Given the description of an element on the screen output the (x, y) to click on. 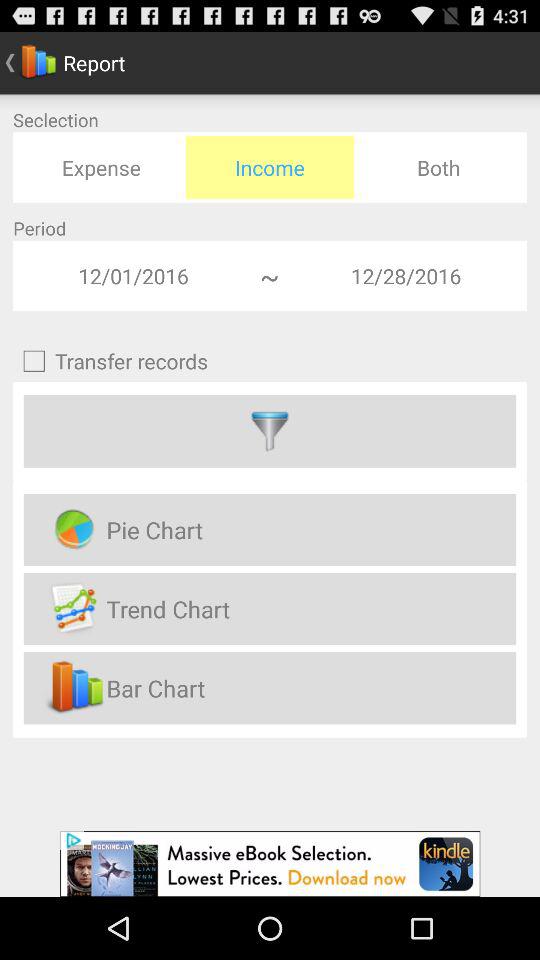
filter option (269, 431)
